Given the description of an element on the screen output the (x, y) to click on. 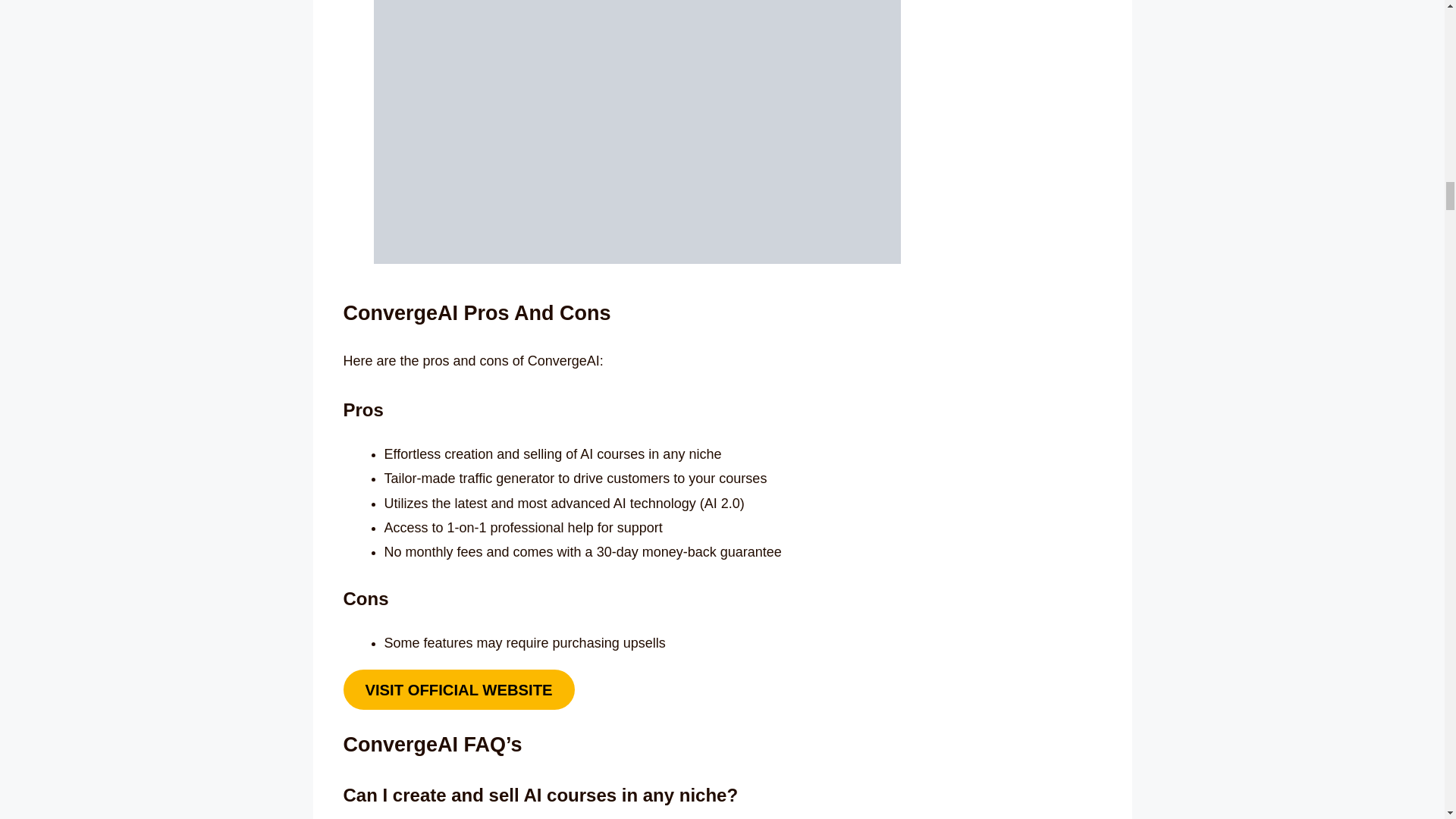
VISIT OFFICIAL WEBSITE (457, 689)
